Given the description of an element on the screen output the (x, y) to click on. 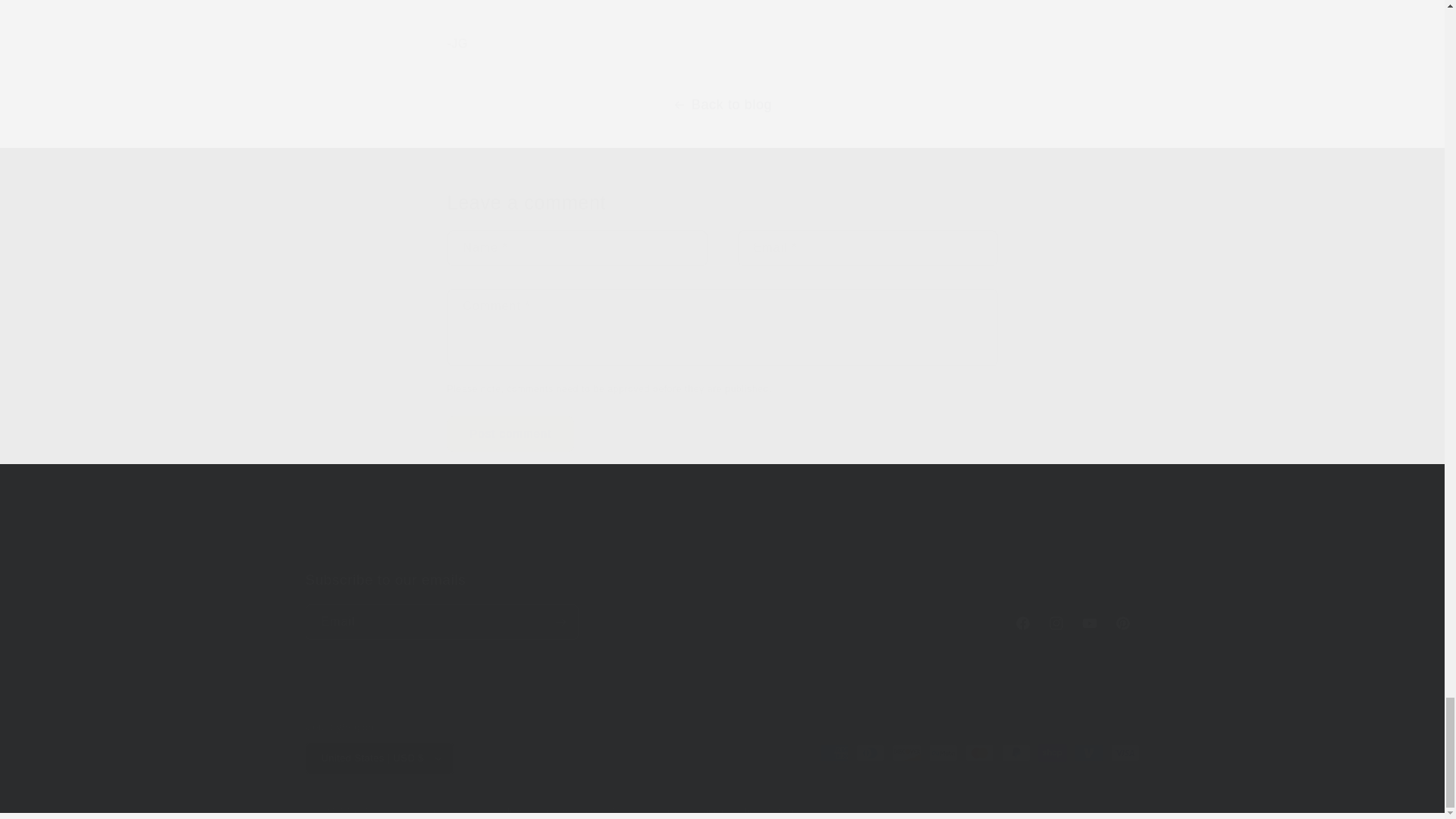
ABOUT (706, 550)
Post comment (510, 434)
NEWS (757, 550)
Post comment (510, 434)
CUTLERY ARCHIVE (843, 550)
